Given the description of an element on the screen output the (x, y) to click on. 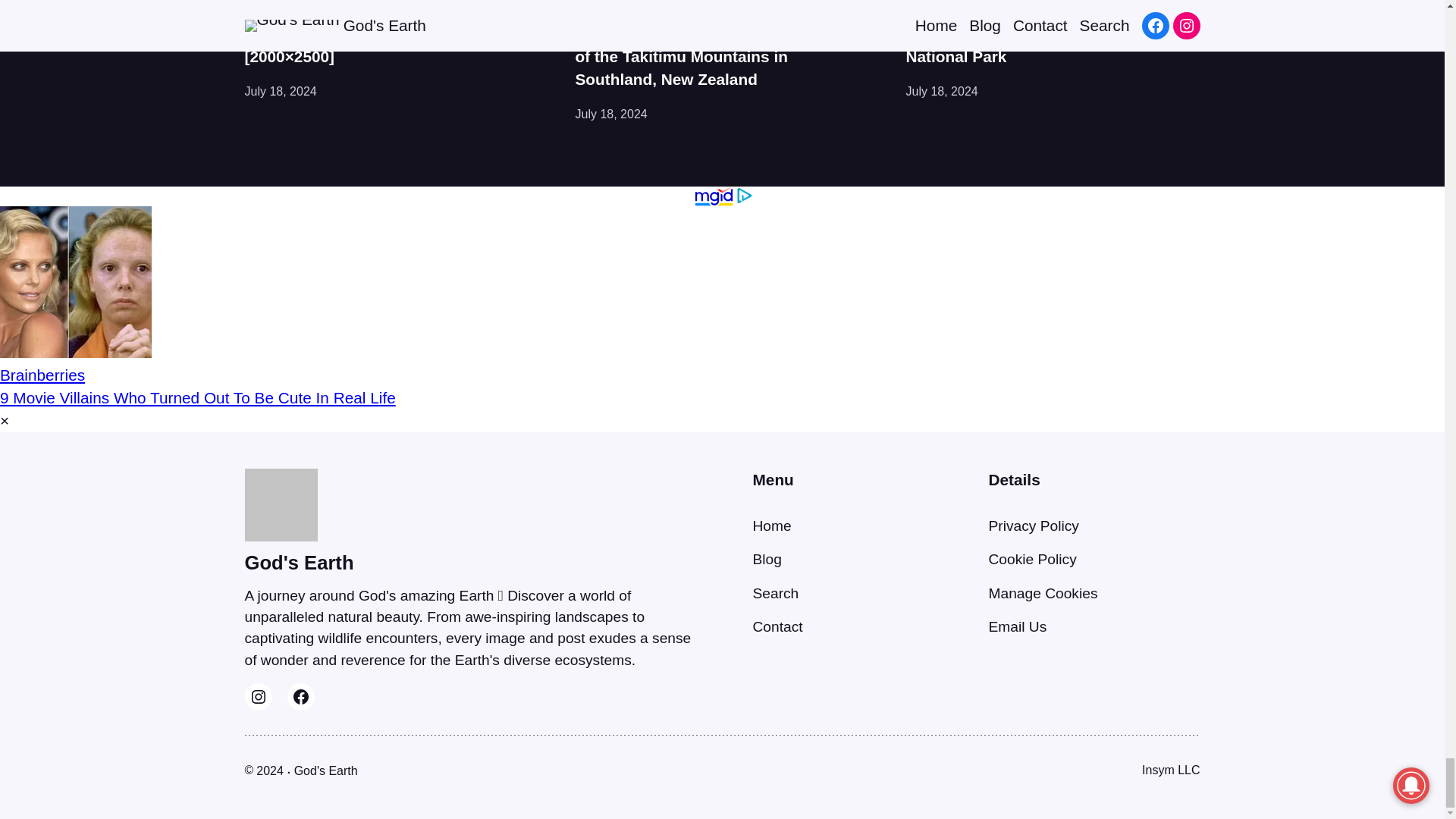
Cookie Policy (1032, 559)
Facebook (300, 696)
Contact (777, 626)
Email Us (1017, 626)
Instagram (257, 696)
Home (771, 525)
Blog (766, 559)
Privacy Policy (1033, 525)
Manage Cookies (1042, 593)
Earth (258, 5)
Exploring the Majestic Rocky Mountain National Park (1052, 44)
Earth (919, 5)
God's Earth (298, 562)
God's Earth (326, 770)
Insym LLC (1170, 769)
